Given the description of an element on the screen output the (x, y) to click on. 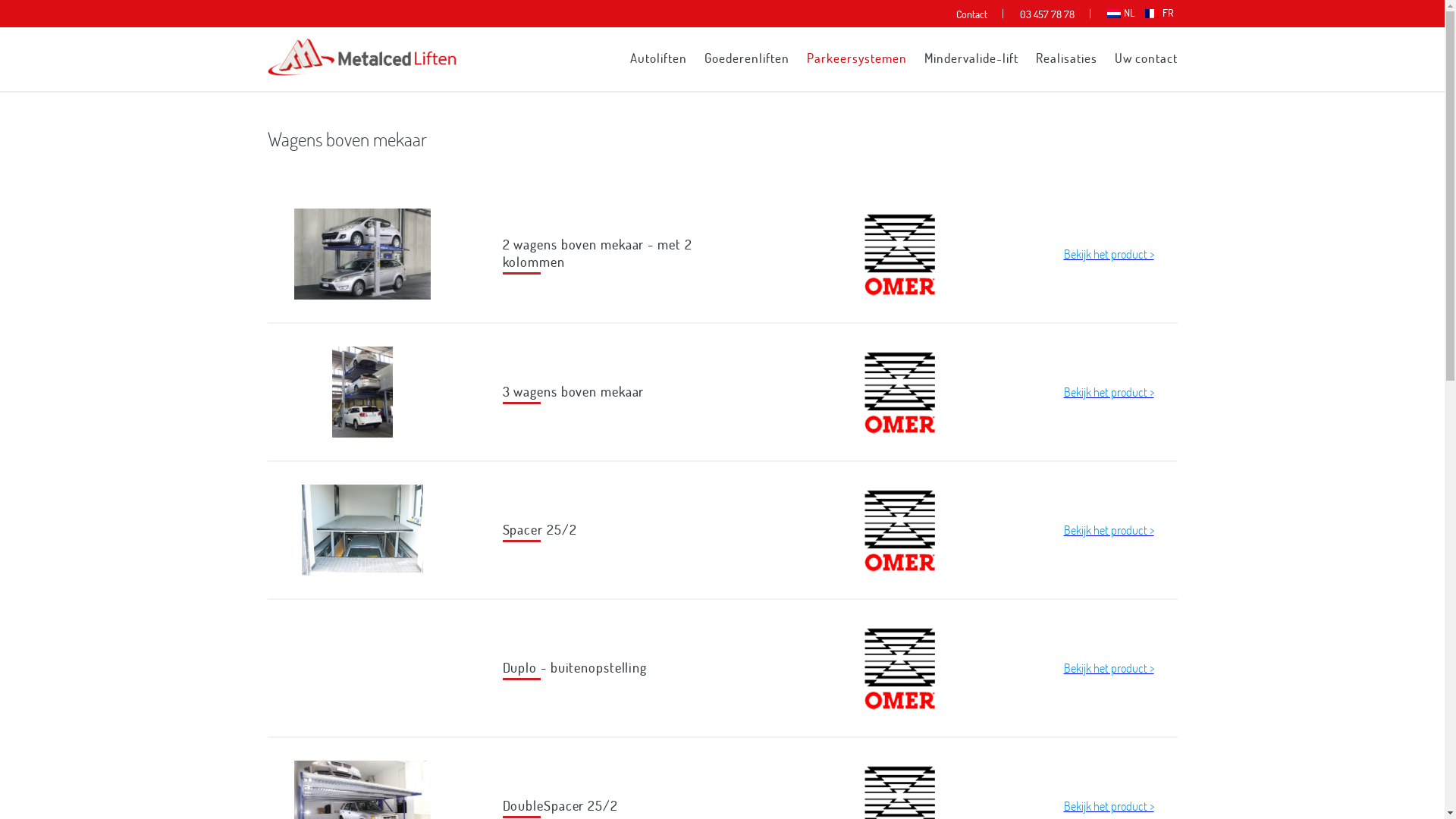
Uw contact Element type: text (1145, 57)
Parkeersystemen Element type: text (856, 57)
03 457 78 78 Element type: text (1046, 13)
3 wagens boven mekaar
Bekijk het product > Element type: text (721, 391)
NL Element type: text (1121, 12)
Autolift Element type: hover (361, 70)
Realisaties Element type: text (1066, 57)
Duplo - buitenopstelling
Bekijk het product > Element type: text (721, 667)
Spacer 25/2
Bekijk het product > Element type: text (721, 529)
Autoliften Element type: text (657, 57)
Goederenliften Element type: text (745, 57)
2 wagens boven mekaar - met 2 kolommen
Bekijk het product > Element type: text (721, 253)
Contact Element type: text (971, 13)
Mindervalide-lift Element type: text (970, 57)
FR Element type: text (1159, 12)
